Given the description of an element on the screen output the (x, y) to click on. 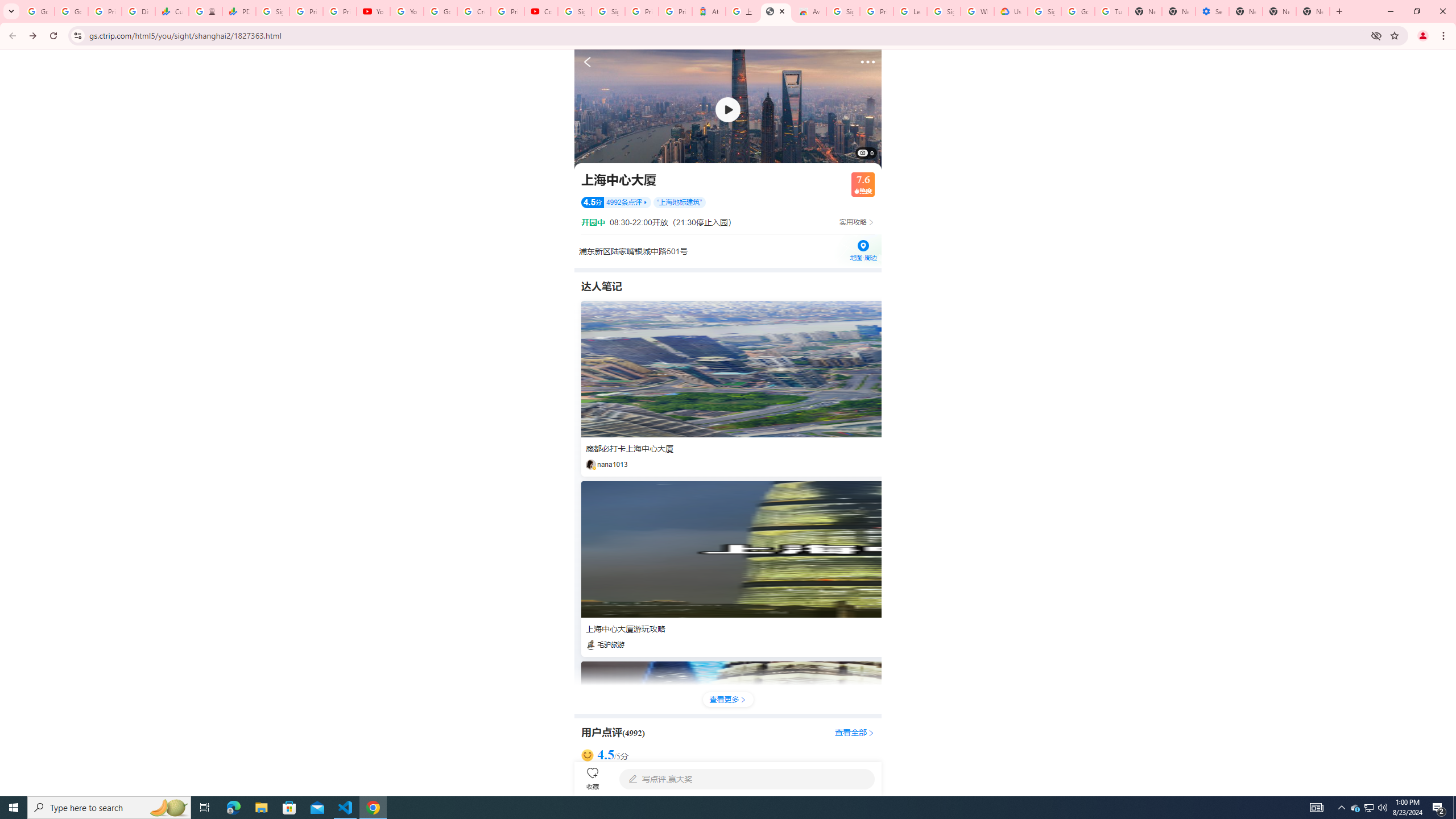
Awesome Screen Recorder & Screenshot - Chrome Web Store (809, 11)
Content Creator Programs & Opportunities - YouTube Creators (541, 11)
Sign in - Google Accounts (272, 11)
Settings - Addresses and more (1212, 11)
Currencies - Google Finance (171, 11)
Sign in - Google Accounts (842, 11)
YouTube (406, 11)
